Given the description of an element on the screen output the (x, y) to click on. 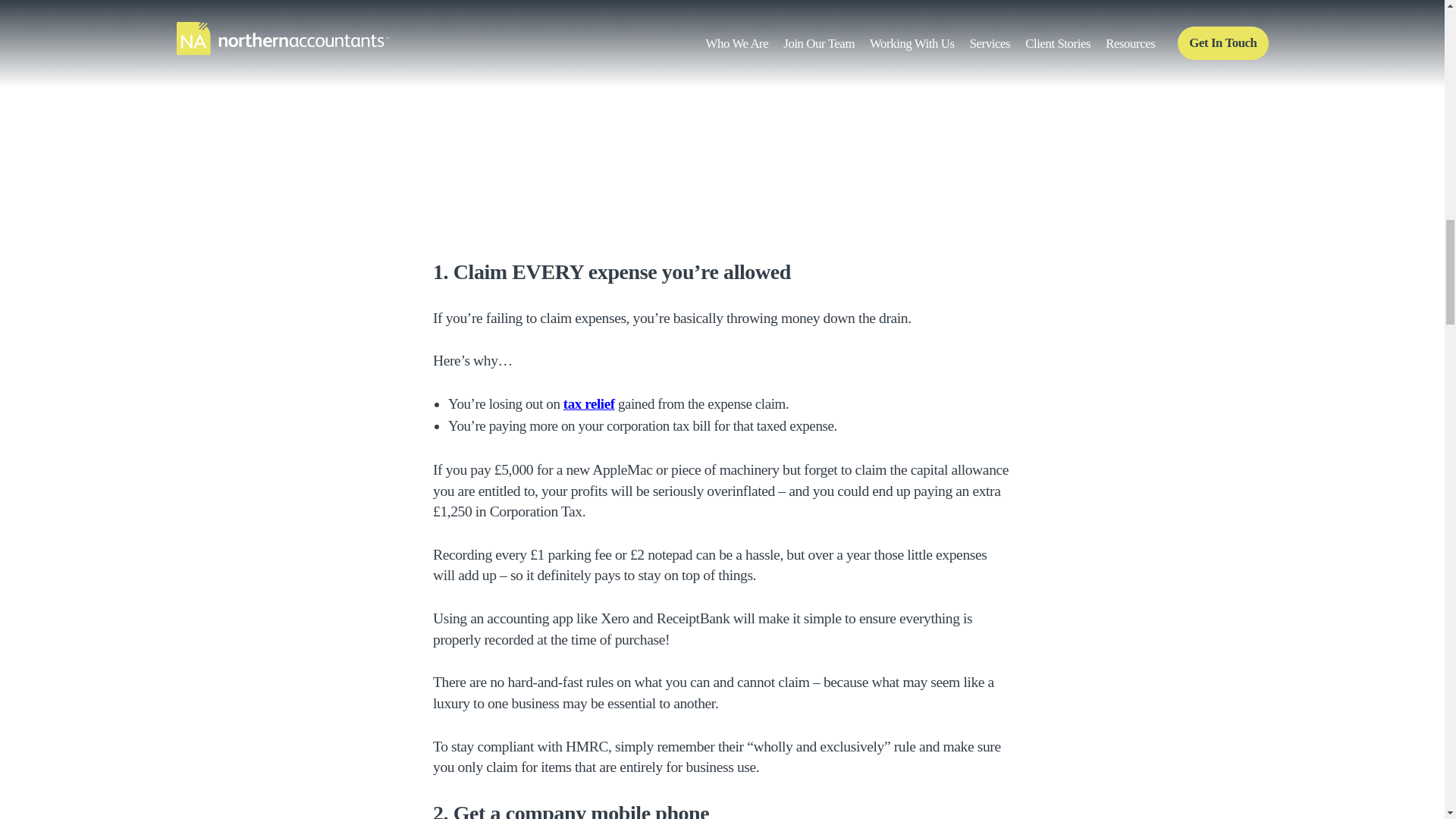
tax relief (588, 403)
